Given the description of an element on the screen output the (x, y) to click on. 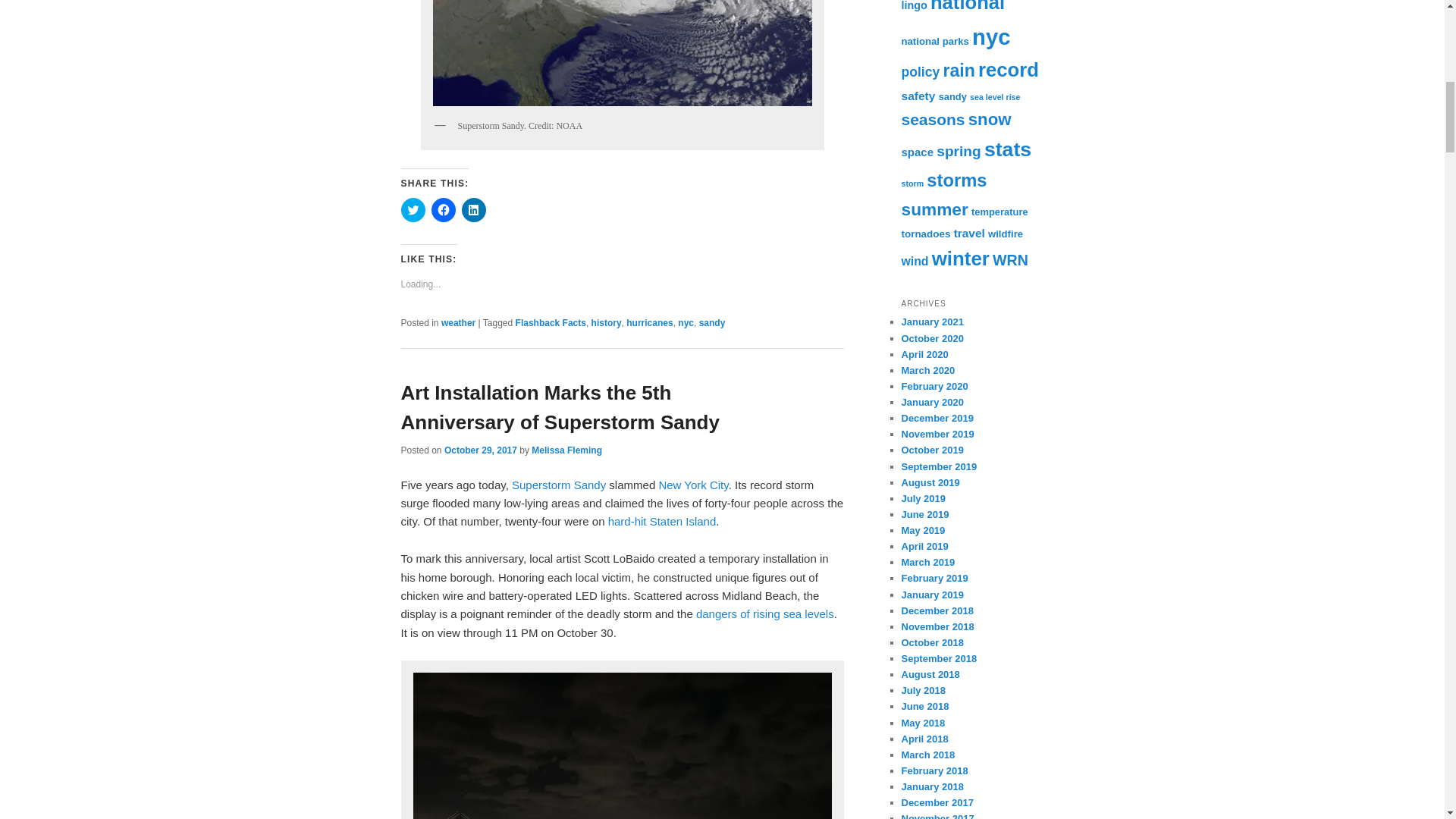
history (606, 322)
Superstorm Sandy (558, 484)
weather (458, 322)
sandy (711, 322)
hurricanes (649, 322)
Click to share on LinkedIn (472, 209)
Click to share on Twitter (412, 209)
View all posts by Melissa Fleming (566, 450)
nyc (686, 322)
dangers of rising sea levels (764, 613)
Click to share on Facebook (442, 209)
Flashback Facts (550, 322)
Melissa Fleming (566, 450)
New York City (693, 484)
